Given the description of an element on the screen output the (x, y) to click on. 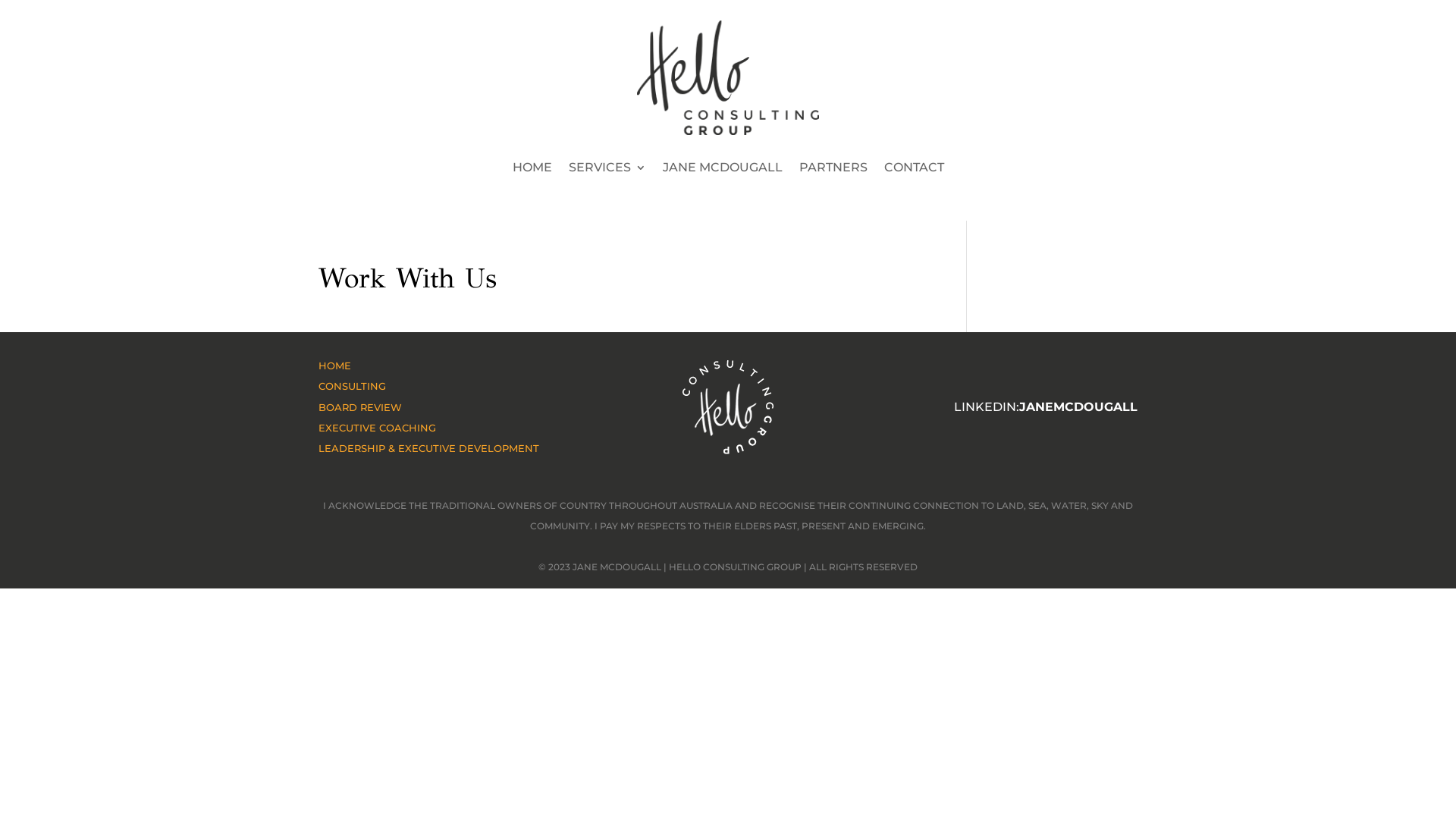
footer-logo Element type: hover (727, 407)
BOARD REVIEW Element type: text (359, 407)
HOME Element type: text (532, 167)
PARTNERS Element type: text (833, 167)
SERVICES Element type: text (607, 167)
HOME Element type: text (334, 365)
EXECUTIVE COACHING Element type: text (377, 427)
CONSULTING Element type: text (351, 385)
JANE MCDOUGALL Element type: text (722, 167)
LEADERSHIP & EXECUTIVE DEVELOPMENT Element type: text (428, 448)
CONTACT Element type: text (914, 167)
LINKEDIN:JANEMCDOUGALL Element type: text (1045, 406)
